Given the description of an element on the screen output the (x, y) to click on. 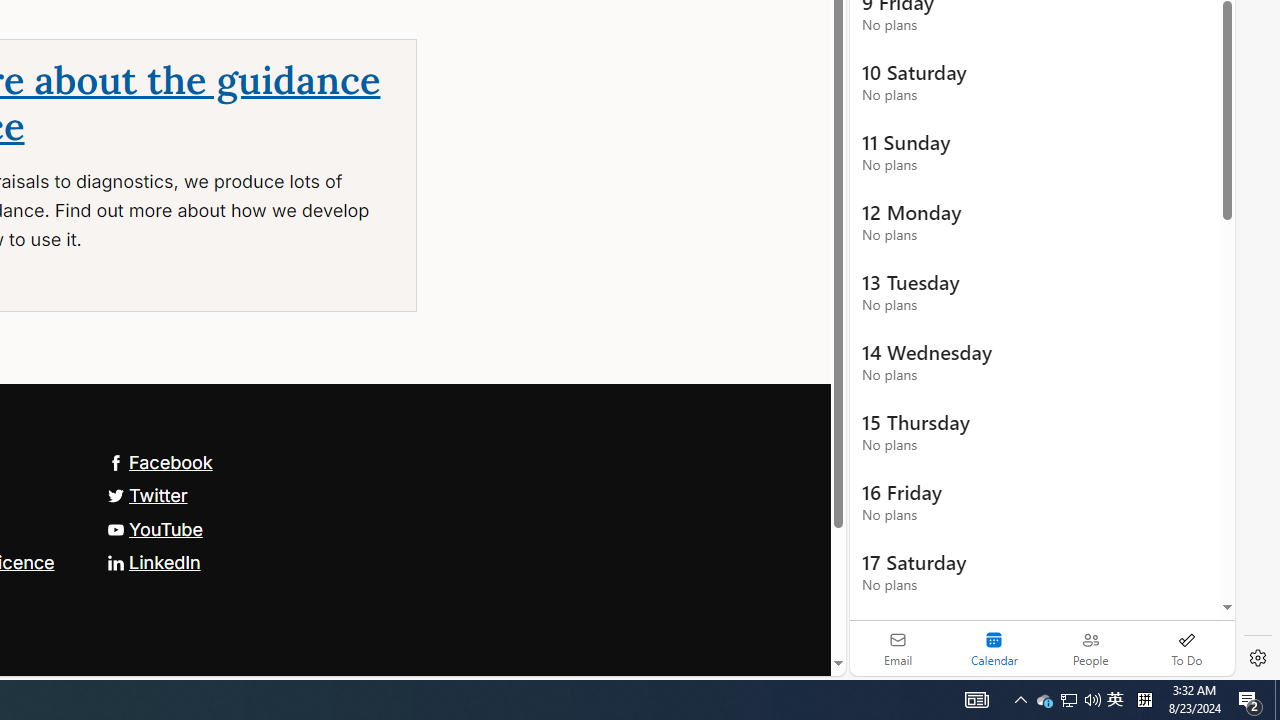
Twitter (147, 494)
Selected calendar module. Date today is 22 (994, 648)
People (1090, 648)
To Do (1186, 648)
Email (898, 648)
